Given the description of an element on the screen output the (x, y) to click on. 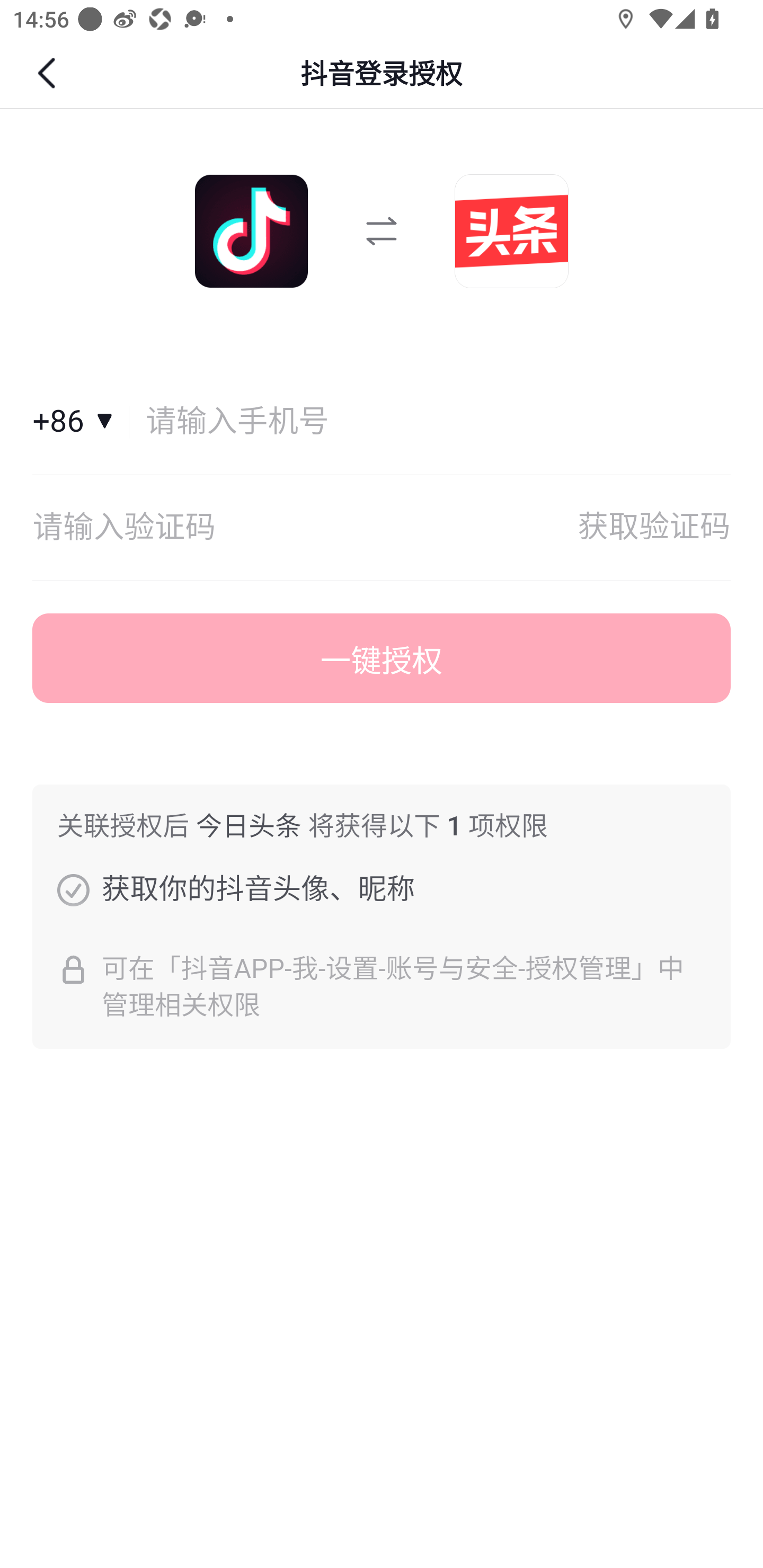
返回 (49, 72)
国家和地区+86 (81, 421)
获取验证码 (653, 527)
一键授权 (381, 658)
获取你的抖音头像、昵称 (72, 889)
